Given the description of an element on the screen output the (x, y) to click on. 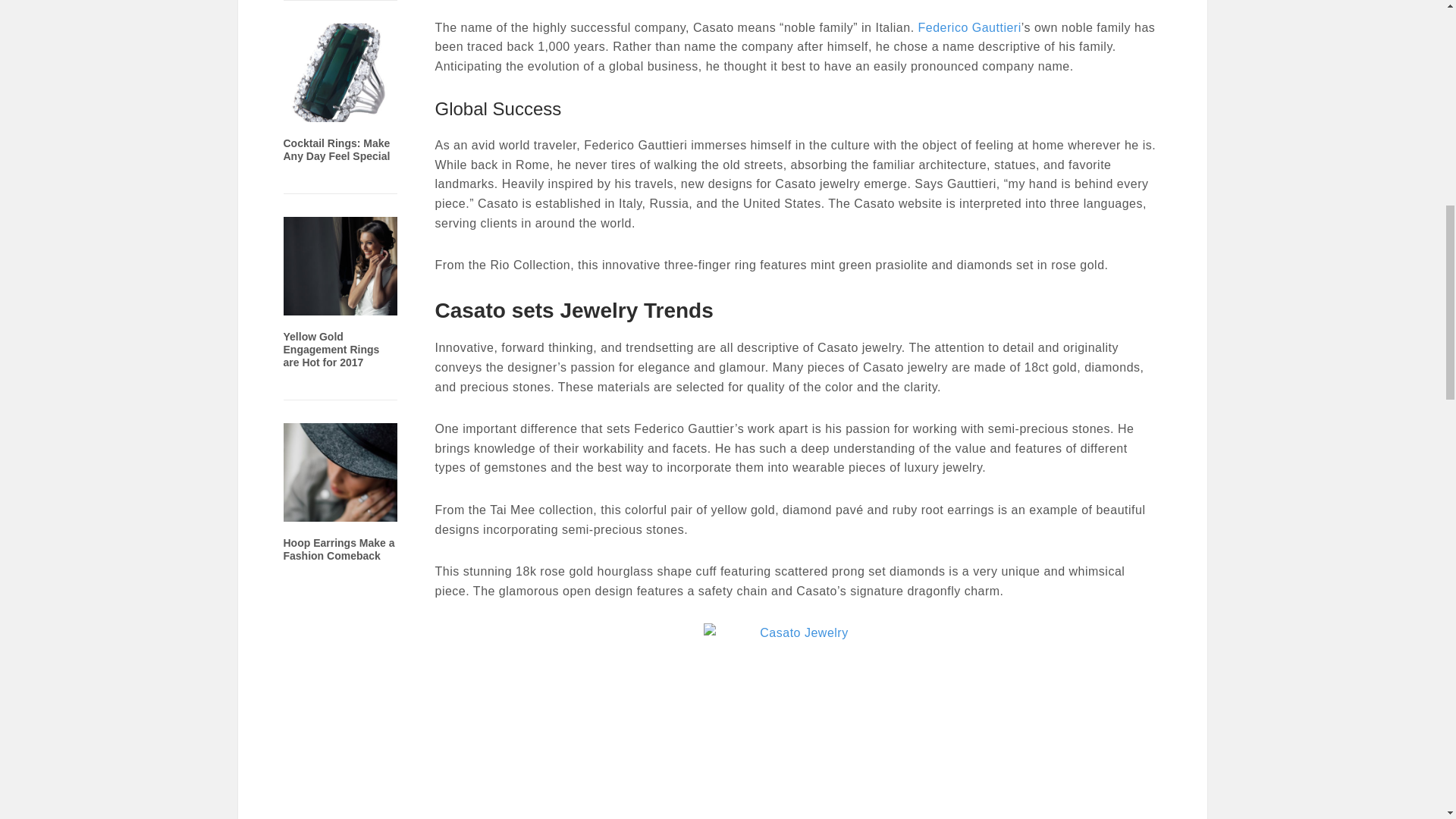
Yellow Gold Engagement Rings are Hot for 2017 (331, 349)
Yellow Gold Engagement Rings are Hot for 2017 (340, 305)
Hoop Earrings Make a Fashion Comeback (338, 549)
Hoop Earrings Make a Fashion Comeback (340, 512)
Cocktail Rings: Make Any Day Feel Special (336, 149)
Cocktail Rings: Make Any Day Feel Special (340, 112)
